Given the description of an element on the screen output the (x, y) to click on. 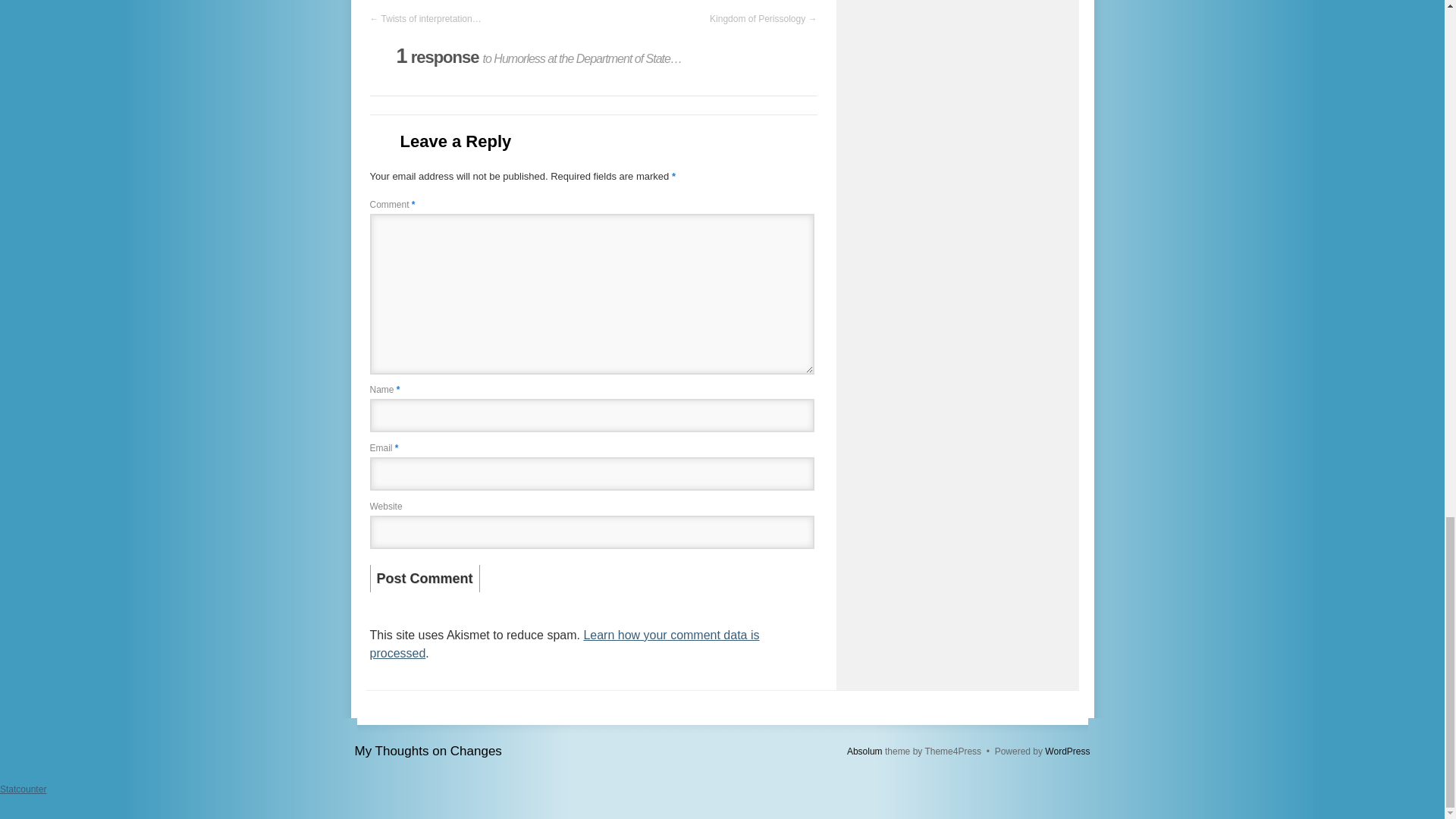
Follow replies (380, 65)
Learn how your comment data is processed (564, 644)
Post Comment (424, 578)
Post Comment (424, 578)
Semantic Personal Publishing Platform (1067, 751)
